Given the description of an element on the screen output the (x, y) to click on. 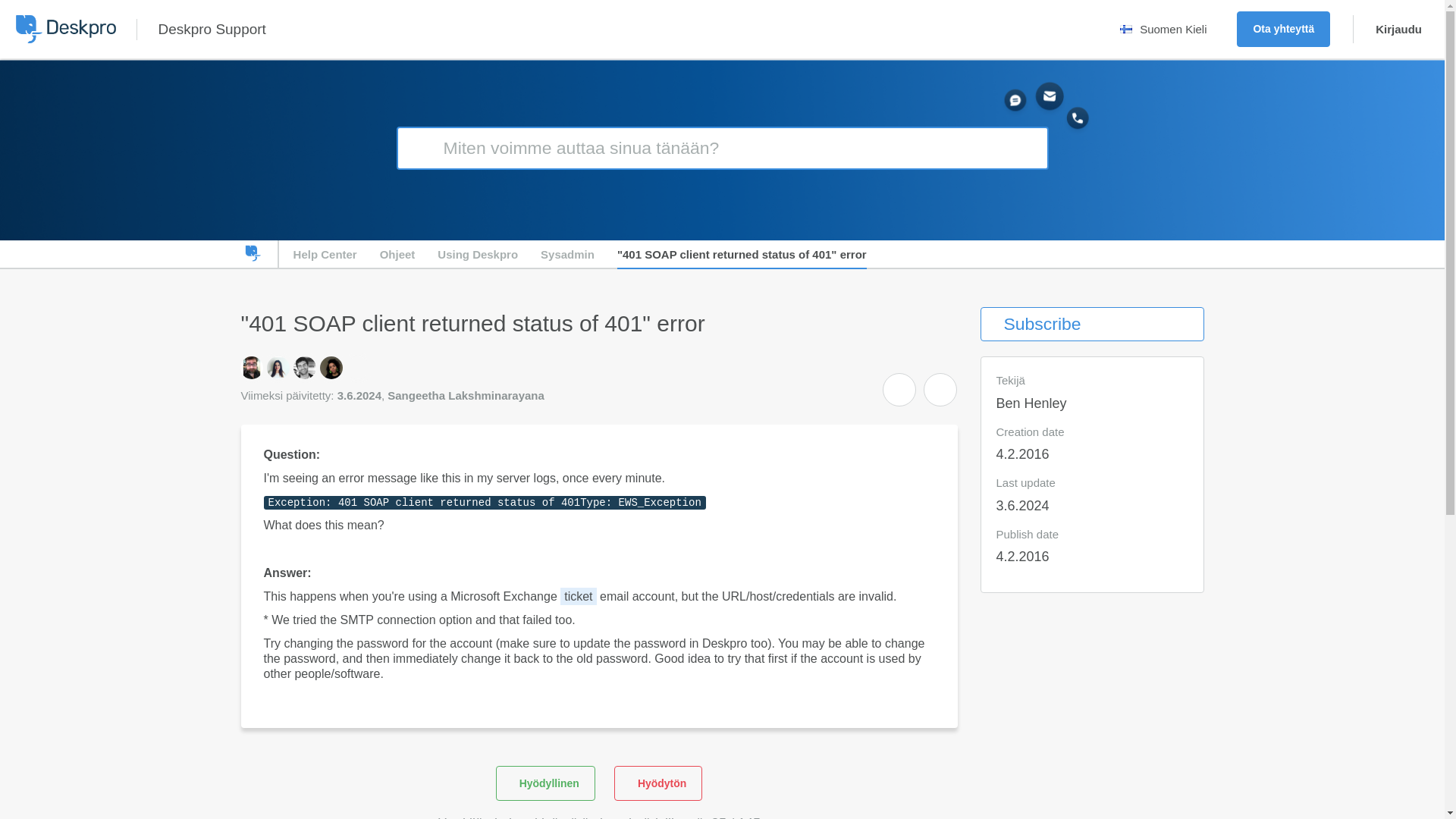
Lauren Cumming (277, 367)
Deskpro Support (210, 29)
Sangeetha Lakshminarayana (358, 367)
Paul Davies (304, 367)
Lara Proud (330, 367)
Ben Henley (250, 367)
Suomen Kieli (1166, 29)
